Given the description of an element on the screen output the (x, y) to click on. 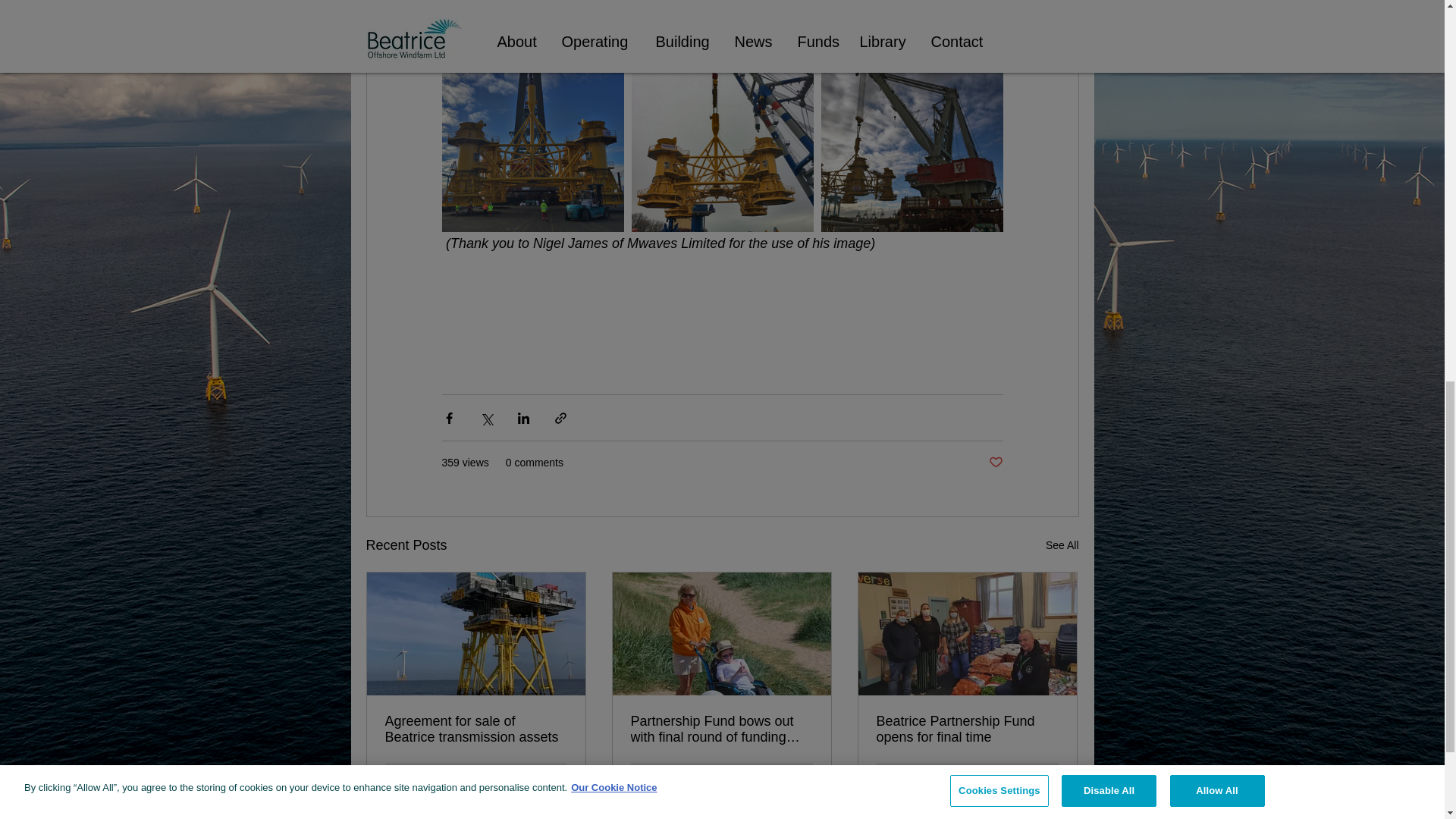
0 (445, 781)
0 (691, 781)
Post not marked as liked (555, 781)
See All (804, 782)
Agreement for sale of Beatrice transmission assets (1061, 545)
Post not marked as liked (476, 729)
